Given the description of an element on the screen output the (x, y) to click on. 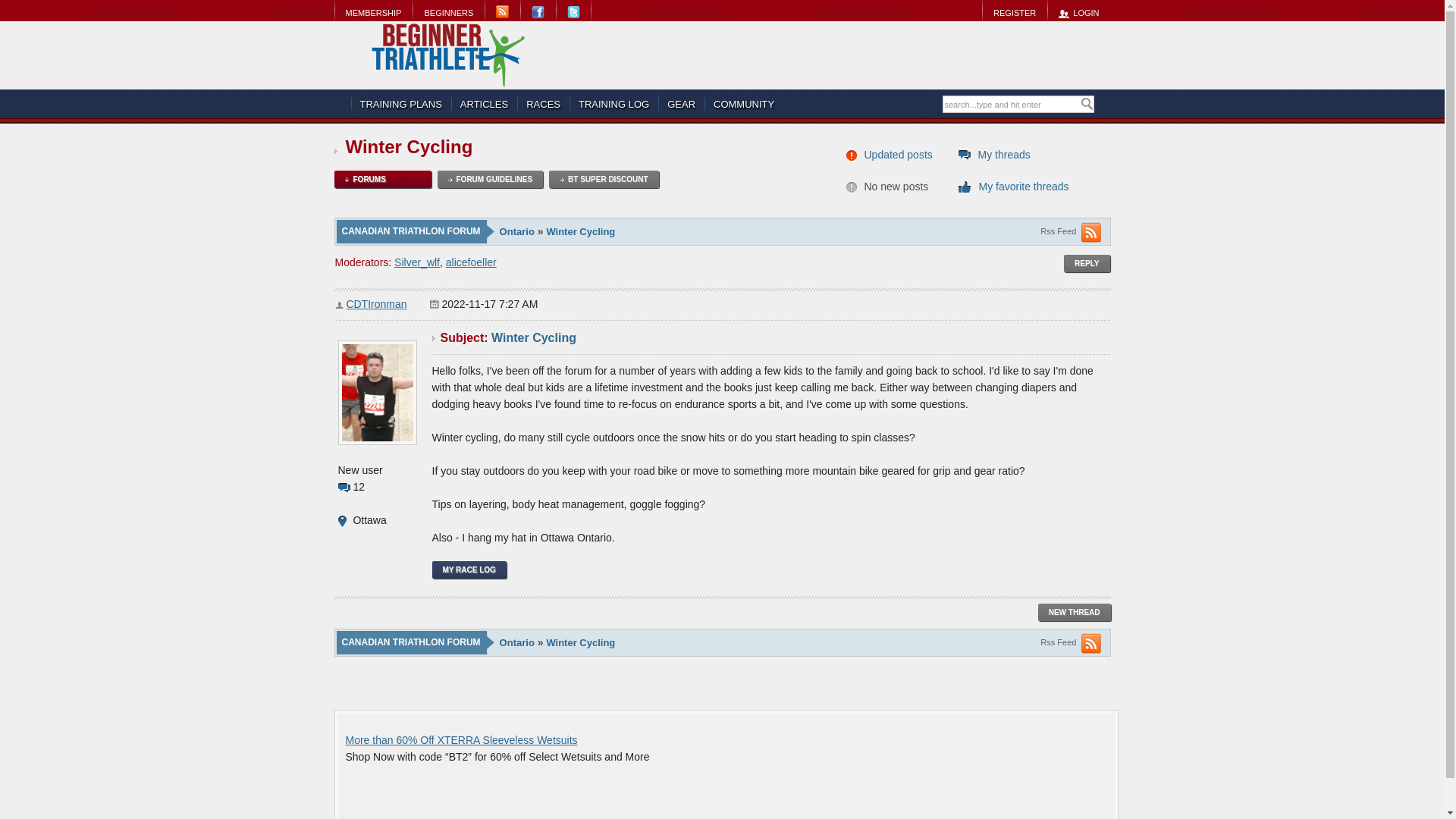
search...type and hit enter (1010, 104)
TRAINING PLANS (400, 104)
REGISTER (1013, 12)
TRAINING LOG (613, 104)
ARTICLES (484, 104)
MEMBERSHIP (372, 12)
RACES (542, 104)
BEGINNERS (448, 12)
LOGIN (1077, 12)
